Given the description of an element on the screen output the (x, y) to click on. 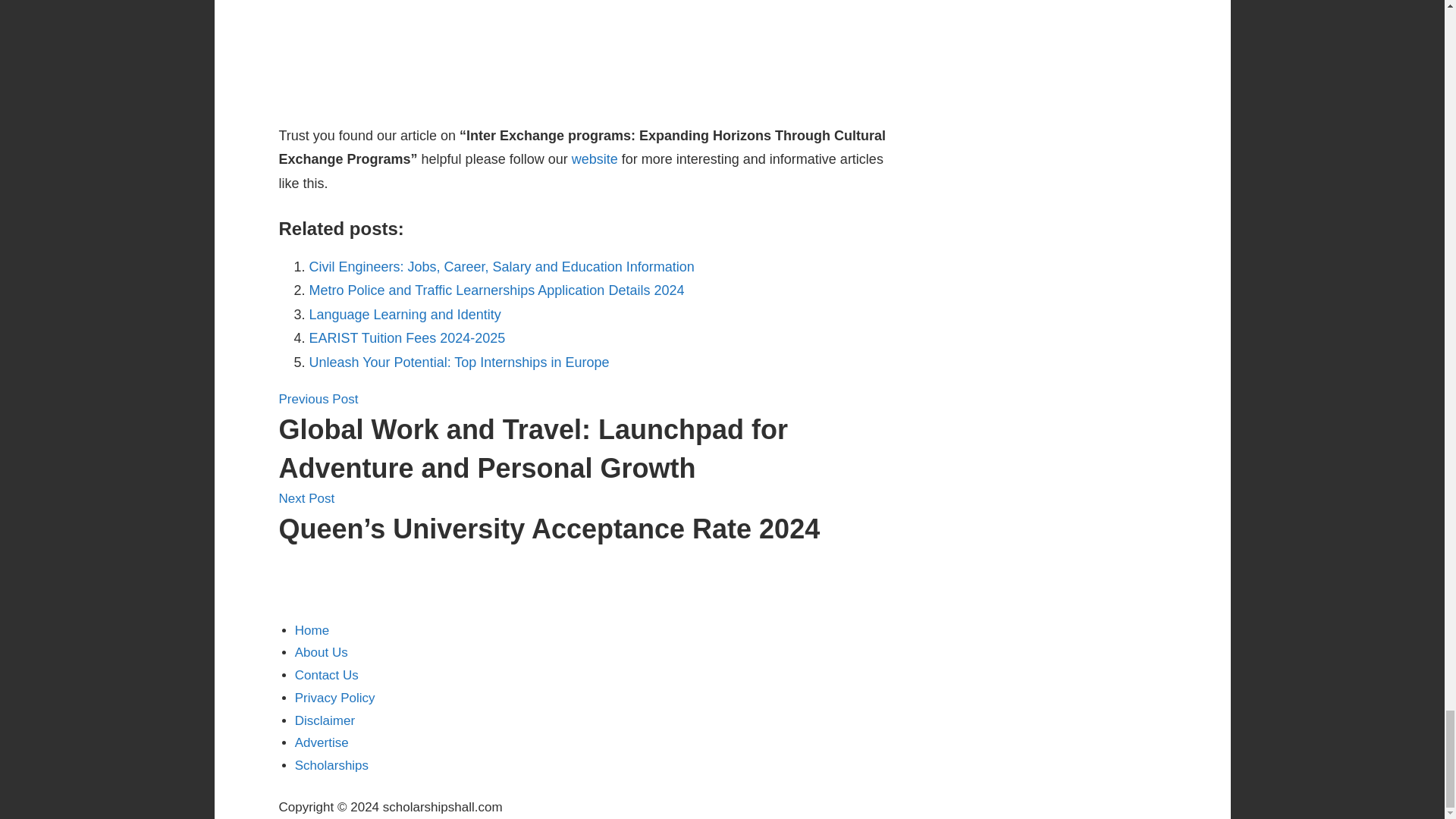
EARIST Tuition Fees 2024-2025 (406, 337)
Language Learning and Identity (404, 314)
website (594, 159)
Language Learning and Identity (404, 314)
Unleash Your Potential: Top Internships in Europe (459, 362)
EARIST Tuition Fees 2024-2025 (406, 337)
